Given the description of an element on the screen output the (x, y) to click on. 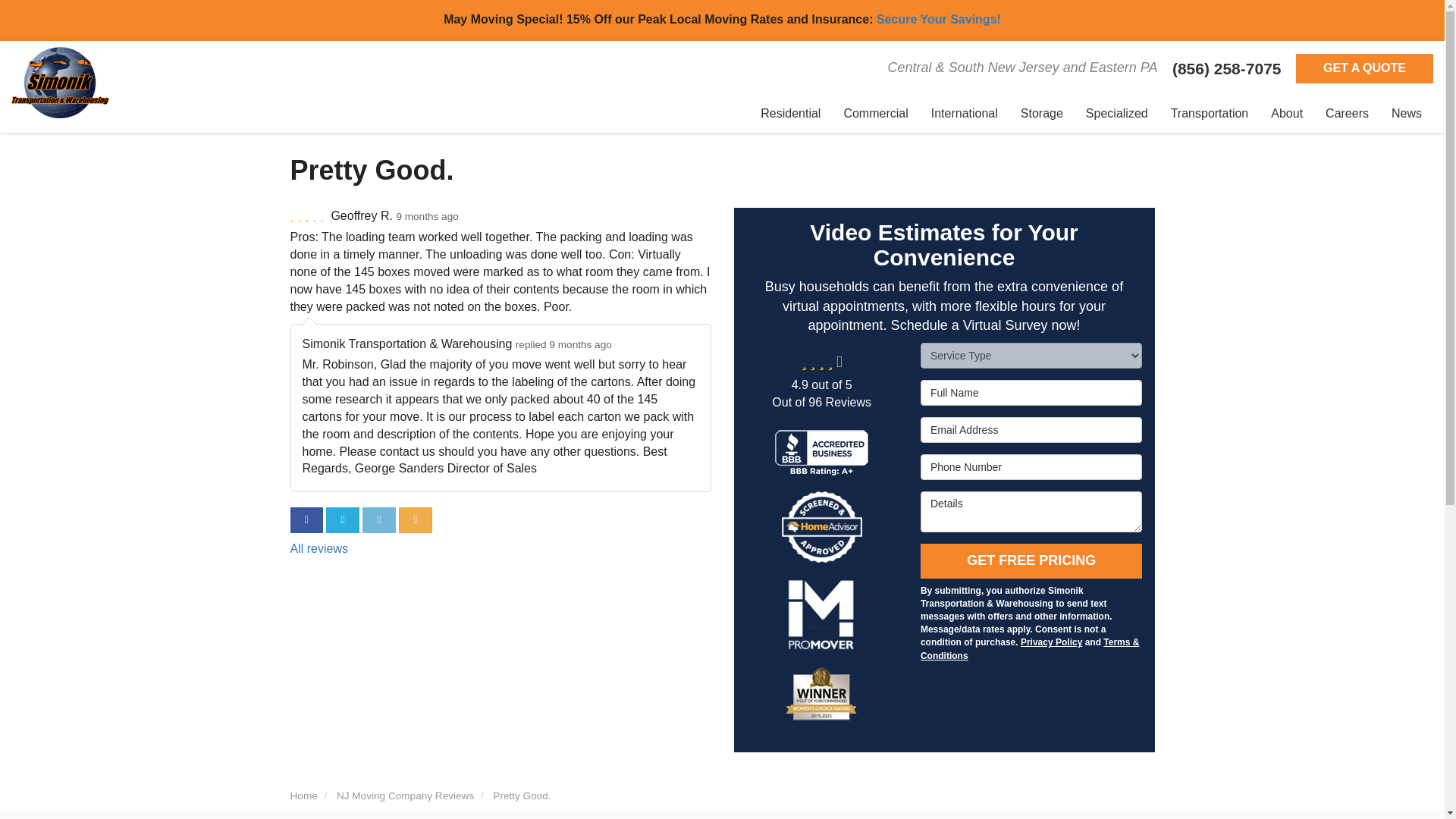
Commercial (874, 113)
GET A QUOTE (1363, 68)
Specialized (1116, 113)
3 Stars (307, 215)
Storage (1041, 113)
GET A QUOTE (1363, 68)
International (964, 113)
Residential (790, 113)
Secure Your Savings! (938, 19)
